Given the description of an element on the screen output the (x, y) to click on. 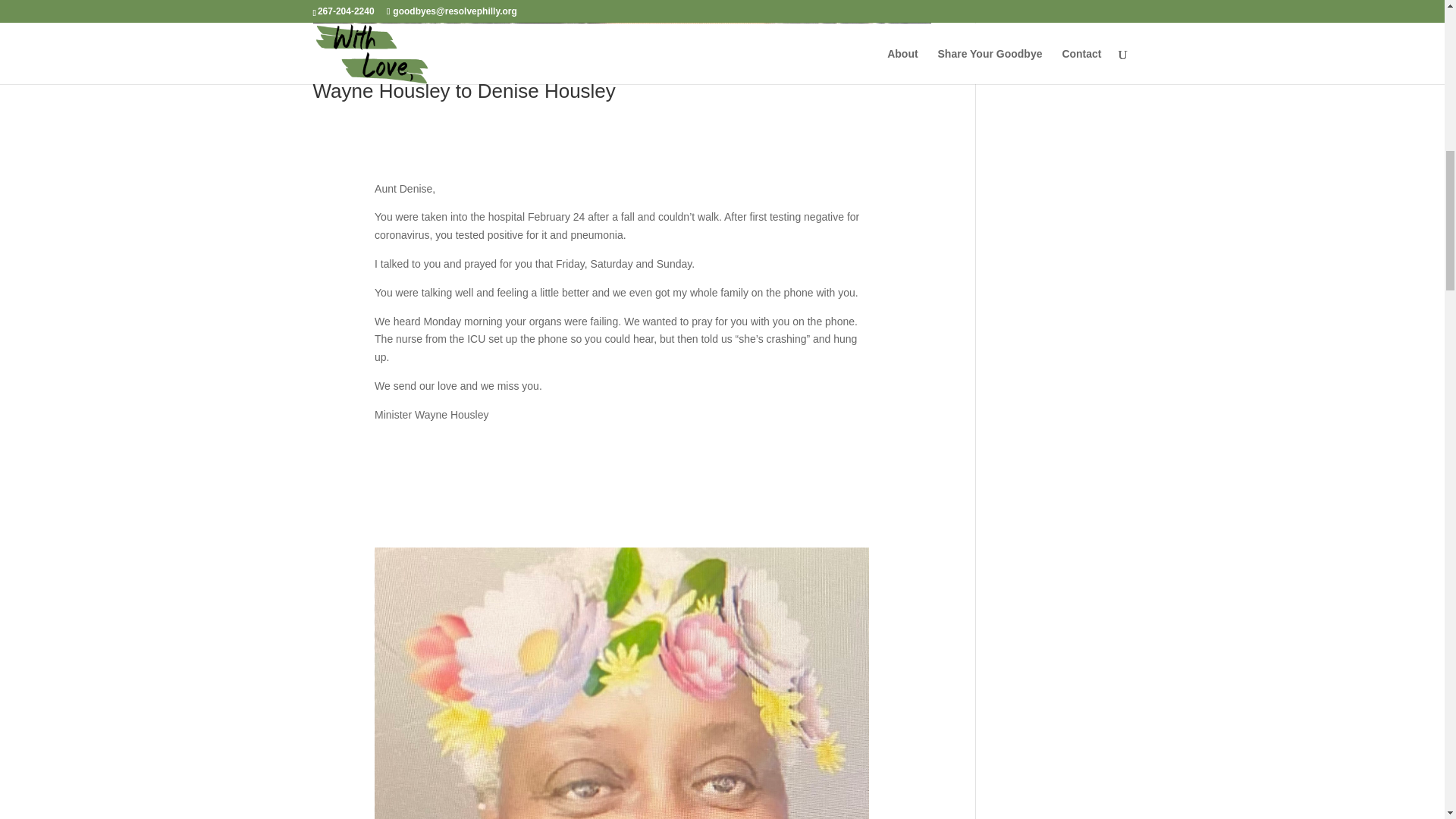
Wayne Housley to Denise Housley (463, 90)
